Given the description of an element on the screen output the (x, y) to click on. 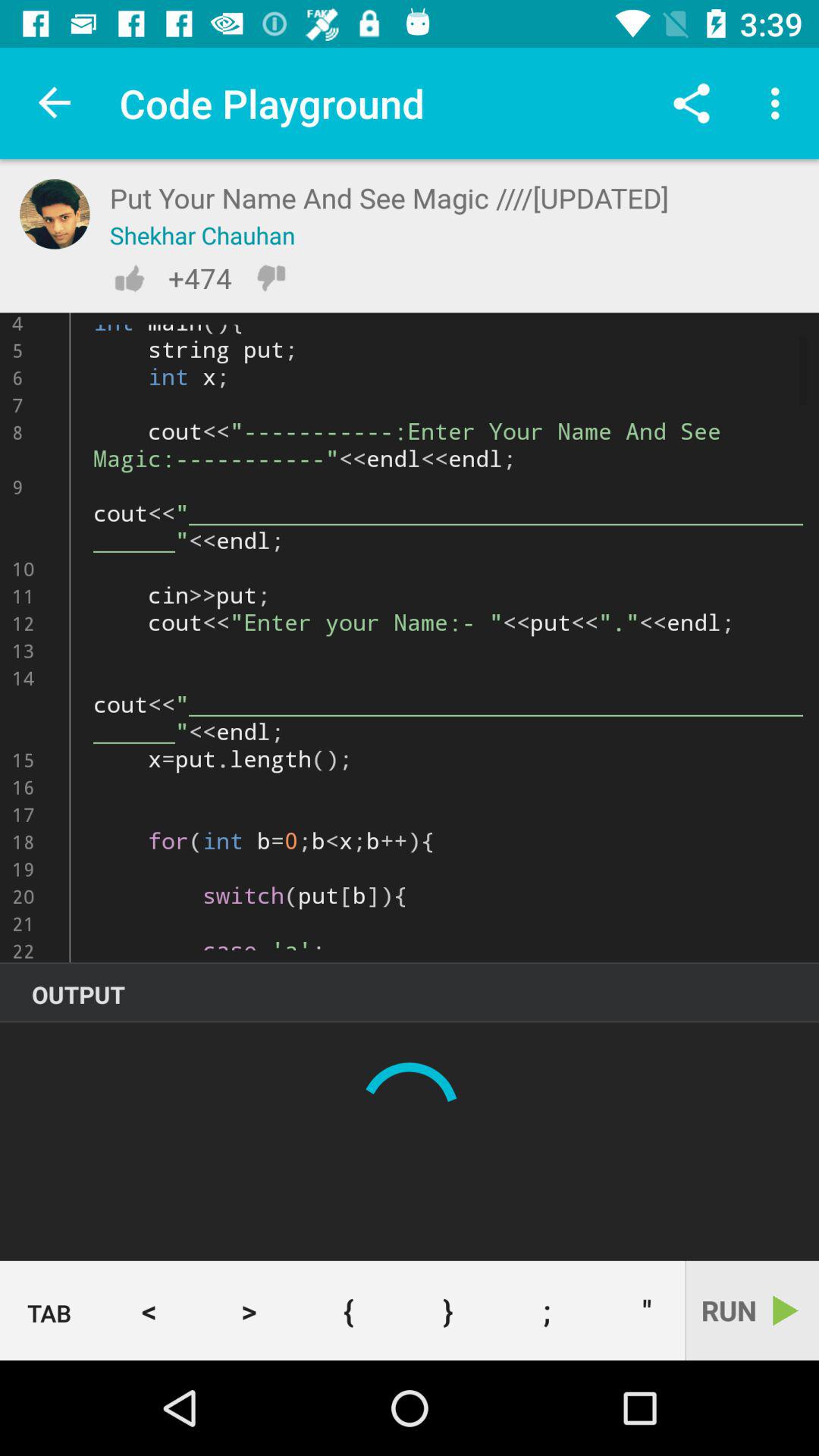
eu no gostei (270, 277)
